Given the description of an element on the screen output the (x, y) to click on. 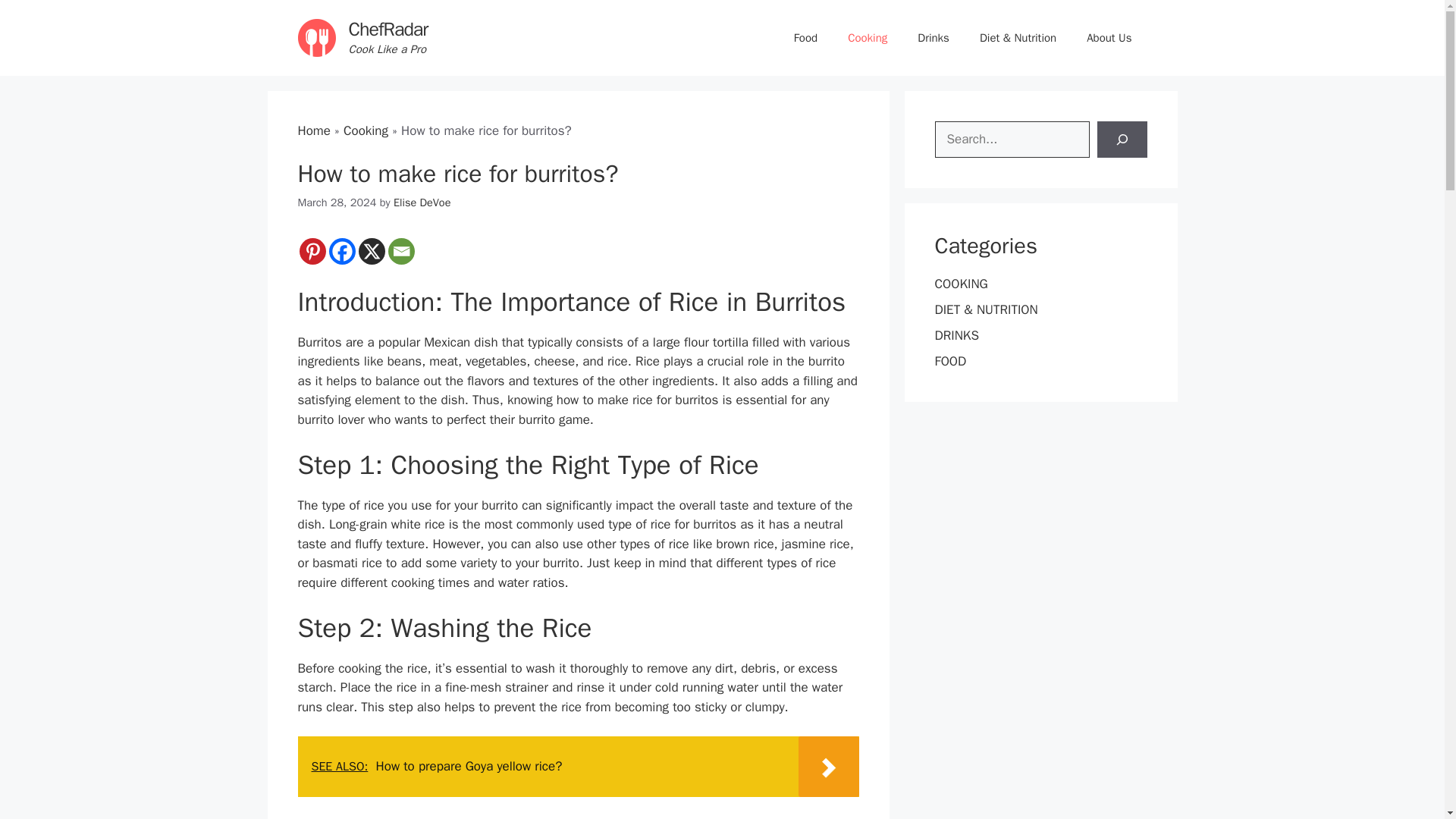
View all posts by Elise DeVoe (422, 202)
SEE ALSO:  How to prepare Goya yellow rice? (578, 766)
Drinks (932, 37)
Elise DeVoe (422, 202)
Food (805, 37)
Pinterest (311, 251)
Home (313, 130)
X (371, 251)
Cooking (365, 130)
About Us (1109, 37)
